Given the description of an element on the screen output the (x, y) to click on. 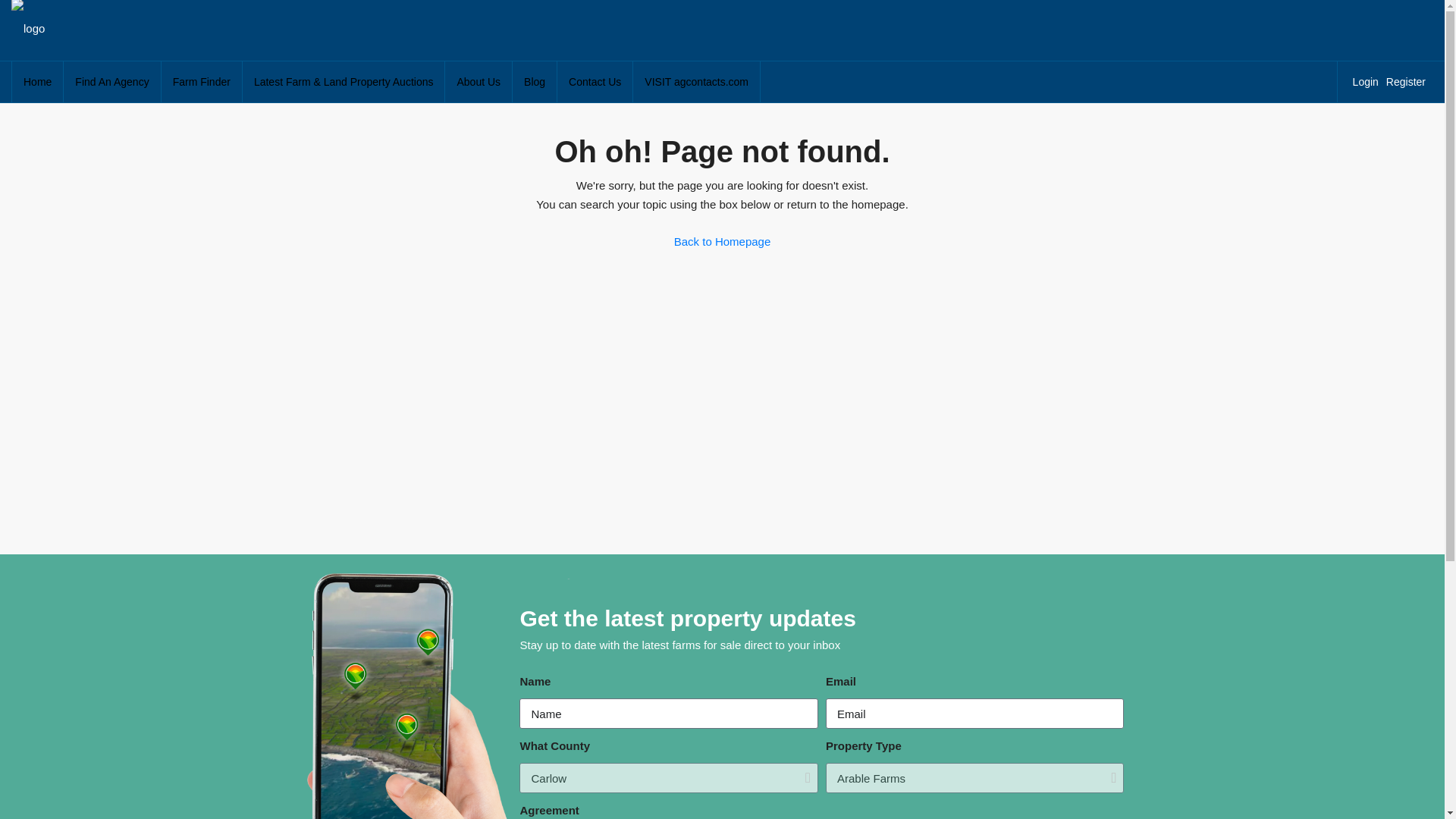
Back to Homepage (722, 241)
Farm Finder (201, 81)
VISIT agcontacts.com (696, 81)
Blog (534, 81)
Login (1369, 81)
Contact Us (594, 81)
Register (1409, 81)
Find An Agency (112, 81)
Home (36, 81)
About Us (478, 81)
